Given the description of an element on the screen output the (x, y) to click on. 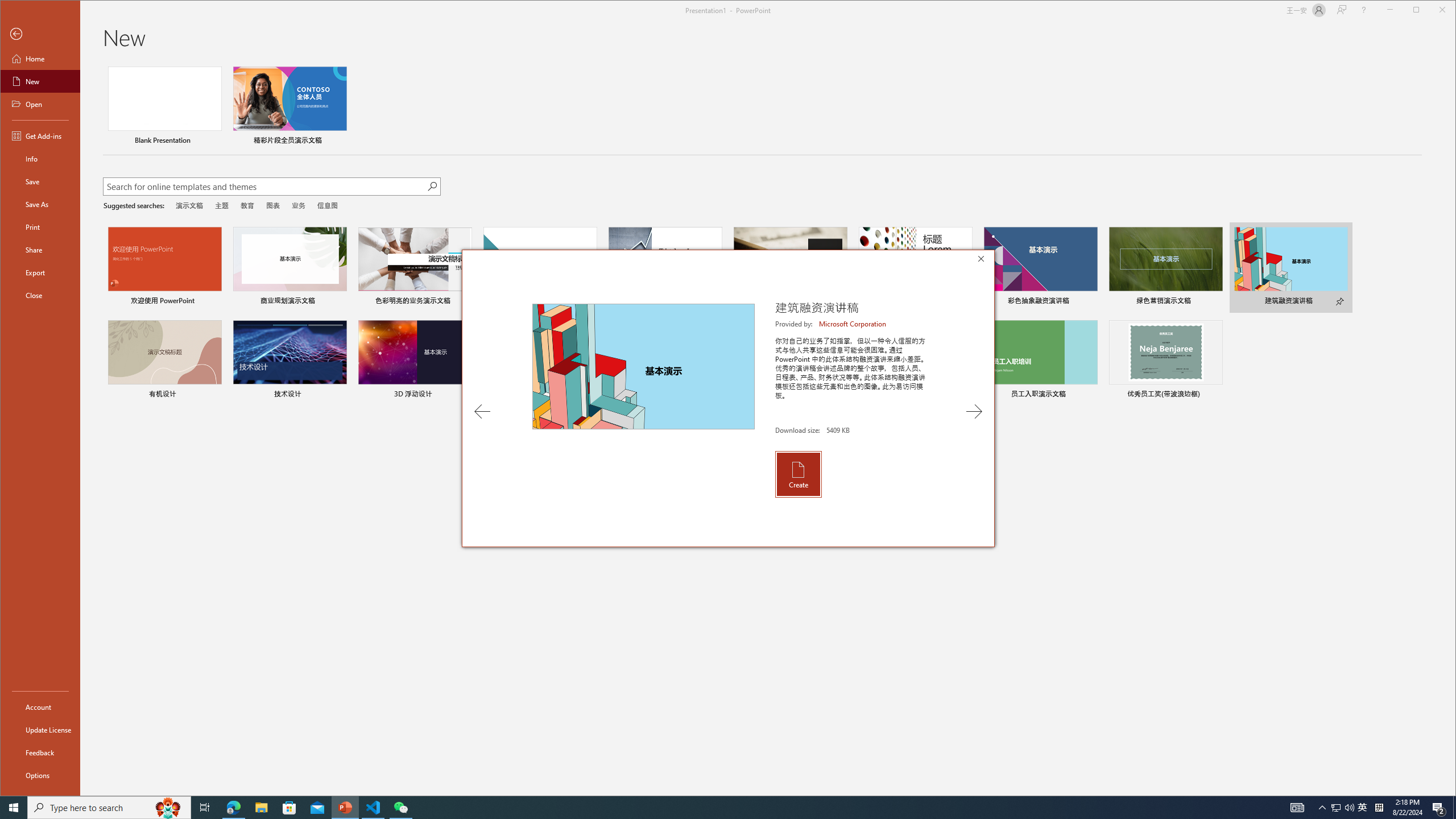
Export (40, 272)
Get Add-ins (40, 135)
New (40, 80)
Previous Template (481, 411)
Pin to list (1215, 395)
